Given the description of an element on the screen output the (x, y) to click on. 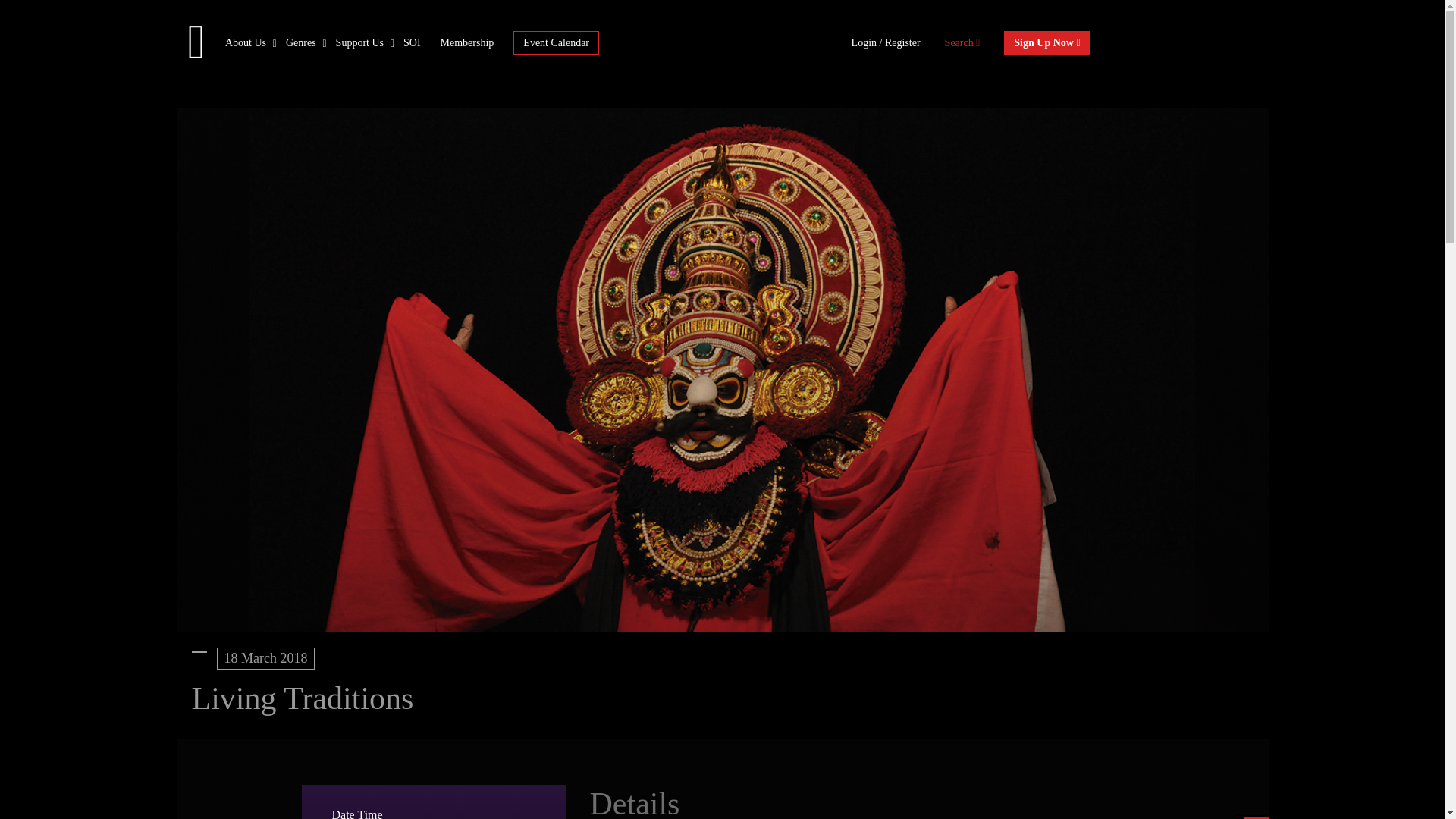
Membership (468, 41)
SOI (411, 41)
Support Us (360, 41)
Login (865, 41)
About Us (245, 41)
Membership (468, 41)
Register (902, 41)
Event Calendar (555, 42)
Sign Up Now (1046, 42)
Genres (300, 41)
